Given the description of an element on the screen output the (x, y) to click on. 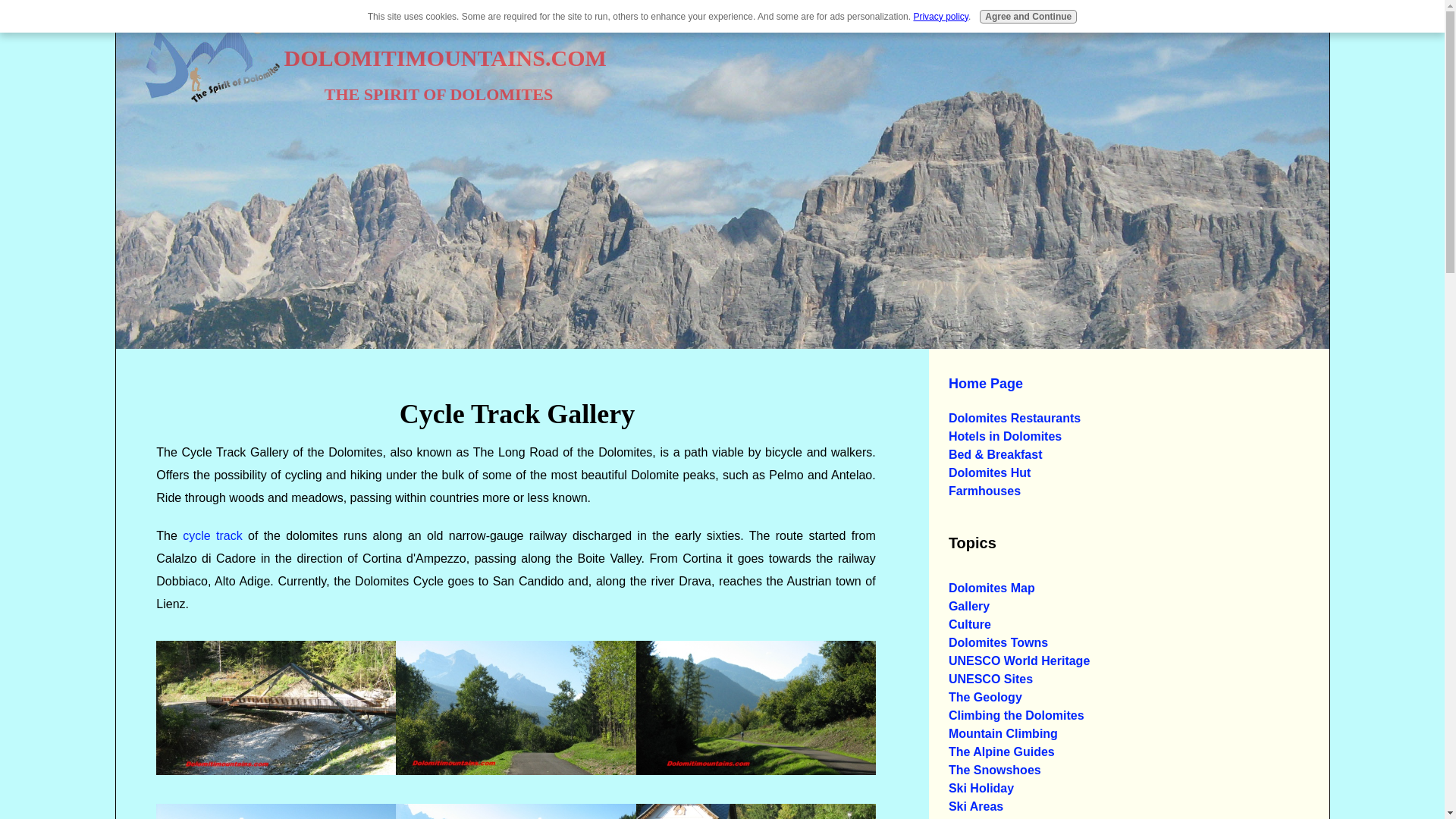
Farmhouses (984, 491)
Go to Modern Bridges (275, 769)
Hotels in Dolomites (1005, 437)
Go to Gorgeous Split (515, 769)
Dolomites Hut (989, 473)
The Alpine Guides (1001, 752)
Climbing the Dolomites (1016, 715)
Gallery (969, 606)
railway (756, 811)
Dolomites Map (992, 588)
Ski Holiday (981, 788)
Mountain Climbing (1003, 734)
Dolomites Restaurants (1014, 419)
Culture (970, 624)
meadows and mountains (515, 811)
